Given the description of an element on the screen output the (x, y) to click on. 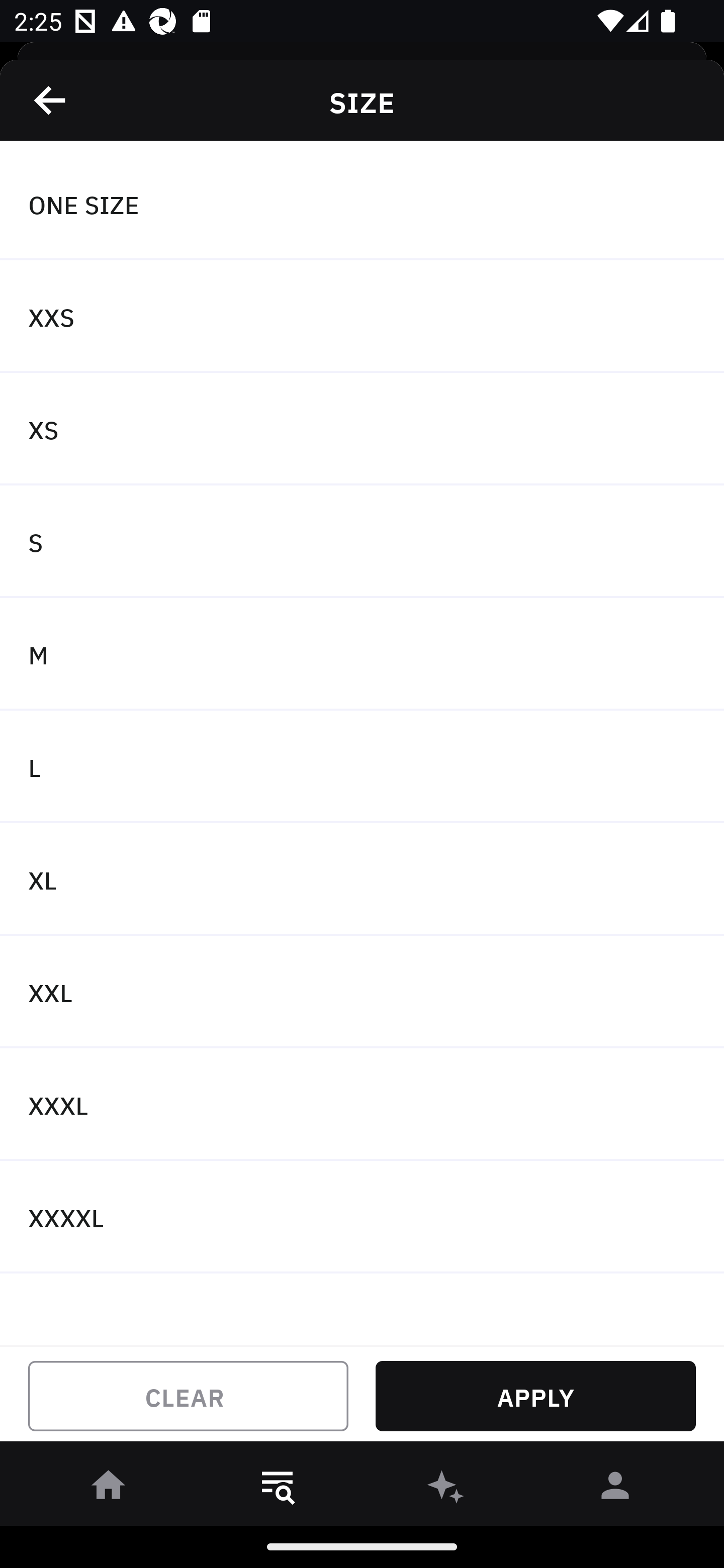
 (50, 100)
ONE SIZE (362, 203)
XXS (362, 316)
XS (362, 429)
S (362, 541)
M (362, 653)
L (362, 766)
XL (362, 879)
XXL (362, 992)
XXXL (362, 1104)
XXXXL (362, 1216)
CLEAR  (188, 1396)
APPLY (535, 1396)
󰋜 (108, 1488)
󱎸 (277, 1488)
󰫢 (446, 1488)
󰀄 (615, 1488)
